Given the description of an element on the screen output the (x, y) to click on. 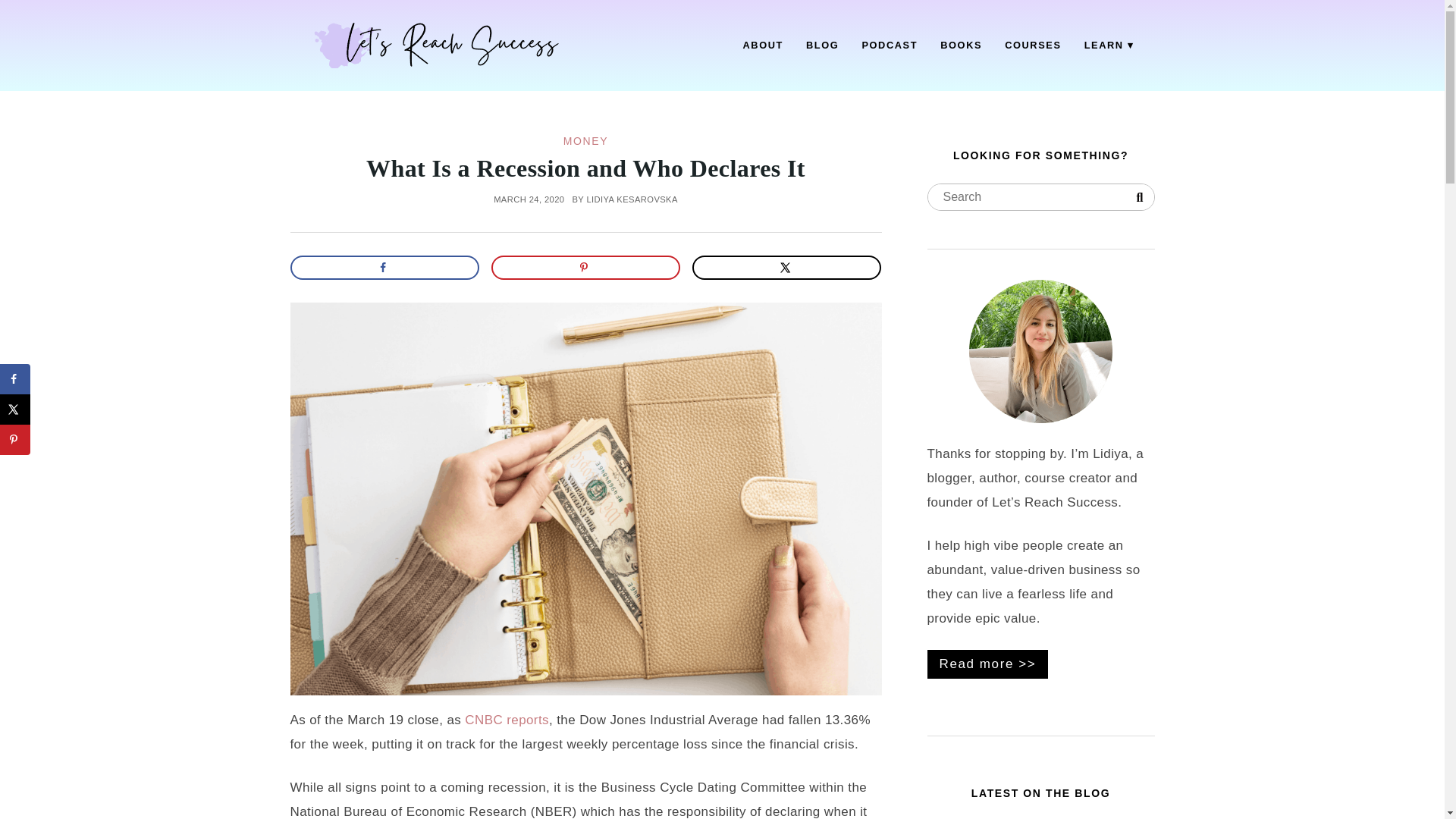
Share on X (787, 267)
Save to Pinterest (15, 440)
What Is a Recession and Who Declares It (585, 167)
LEARN (1109, 45)
BOOKS (960, 45)
PODCAST (889, 45)
Share on Facebook (384, 267)
ABOUT (763, 45)
CNBC reports (506, 719)
Share on X (15, 409)
